Given the description of an element on the screen output the (x, y) to click on. 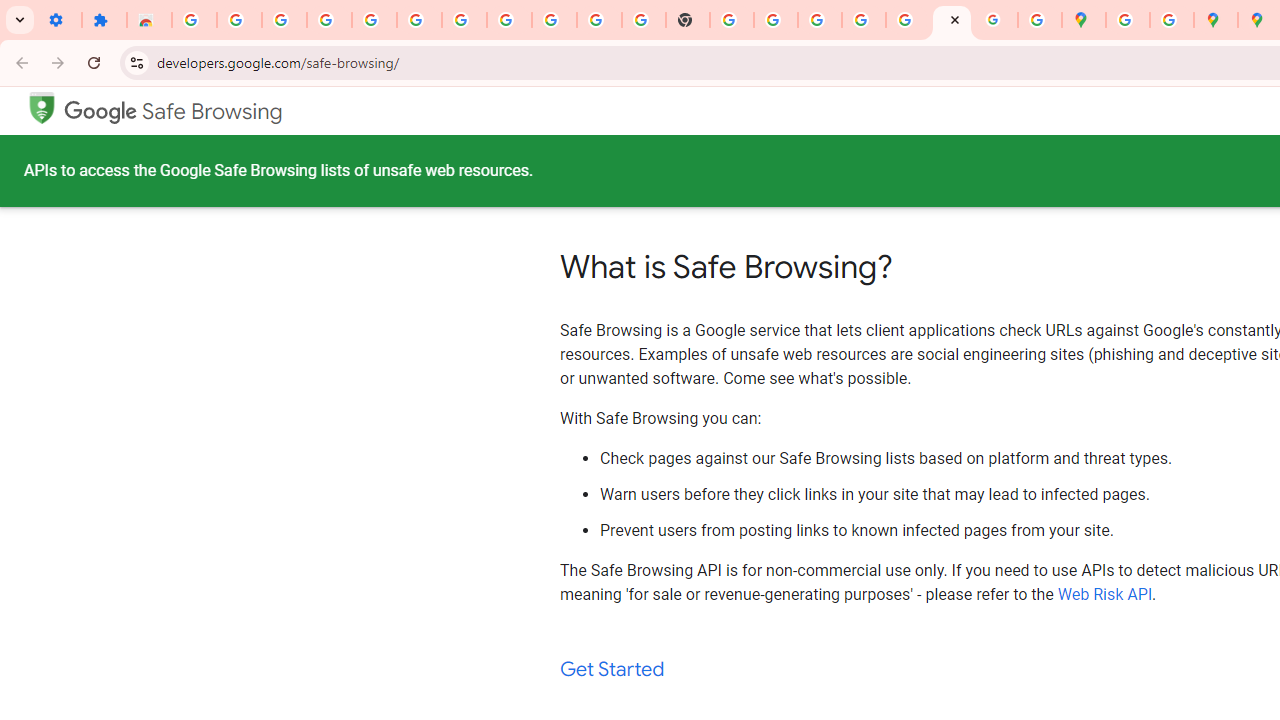
New Tab (687, 20)
Google Account (554, 20)
Google Safe Browsing (41, 106)
Learn how to find your photos - Google Photos Help (374, 20)
Settings - On startup (59, 20)
